Given the description of an element on the screen output the (x, y) to click on. 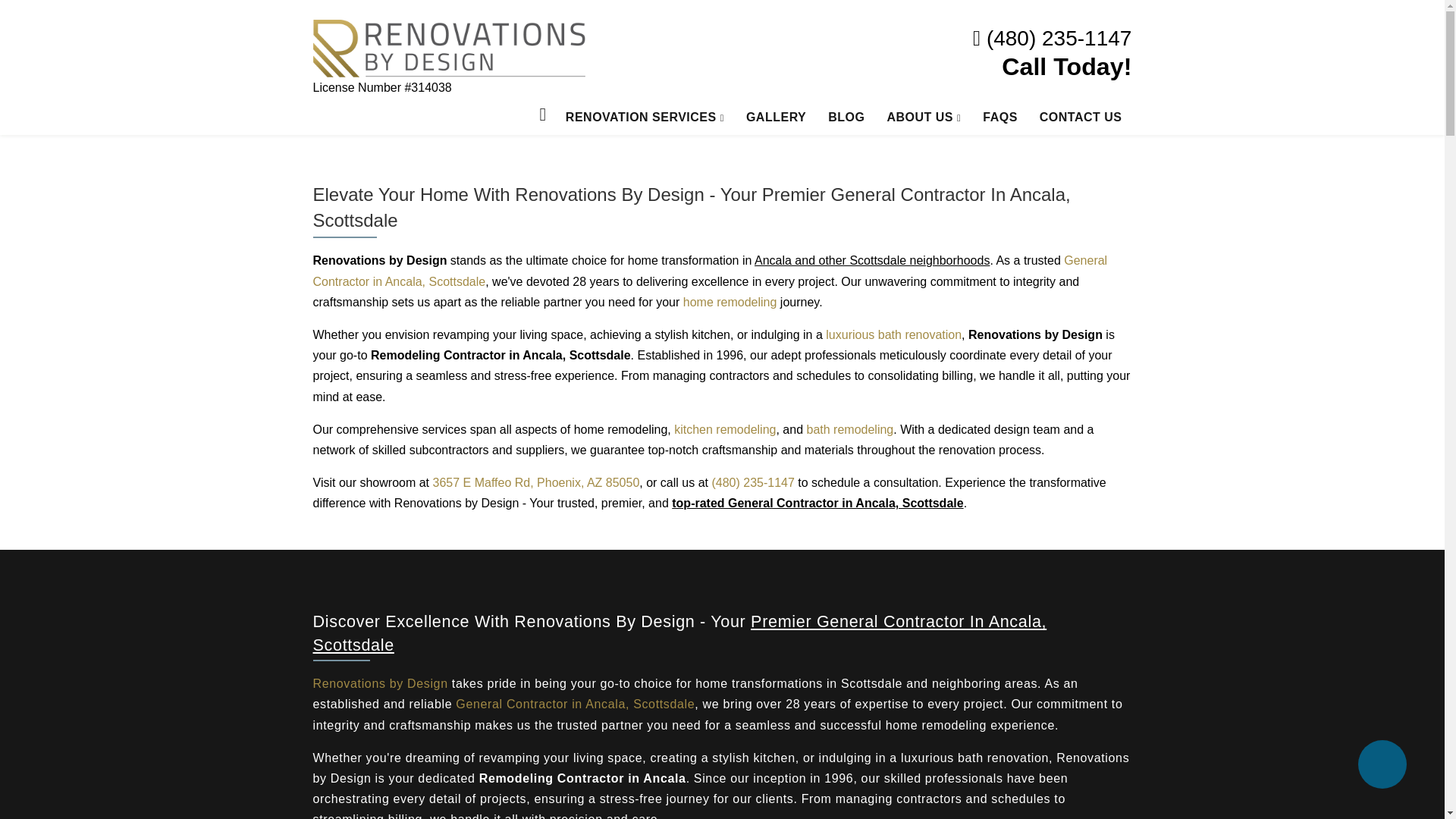
home remodeling (729, 301)
General Contractor in Ancala, Scottsdale (709, 270)
Renovations by Design (379, 683)
Blog (845, 116)
CONTACT US (1080, 116)
Renovation Services (644, 116)
Call (1052, 38)
General Contractor in Ancala, Scottsdale (574, 703)
Gallery (775, 116)
GALLERY (775, 116)
kitchen remodeling (725, 429)
luxurious bath renovation (892, 334)
BLOG (845, 116)
FAQS (1000, 116)
ABOUT US (923, 116)
